Given the description of an element on the screen output the (x, y) to click on. 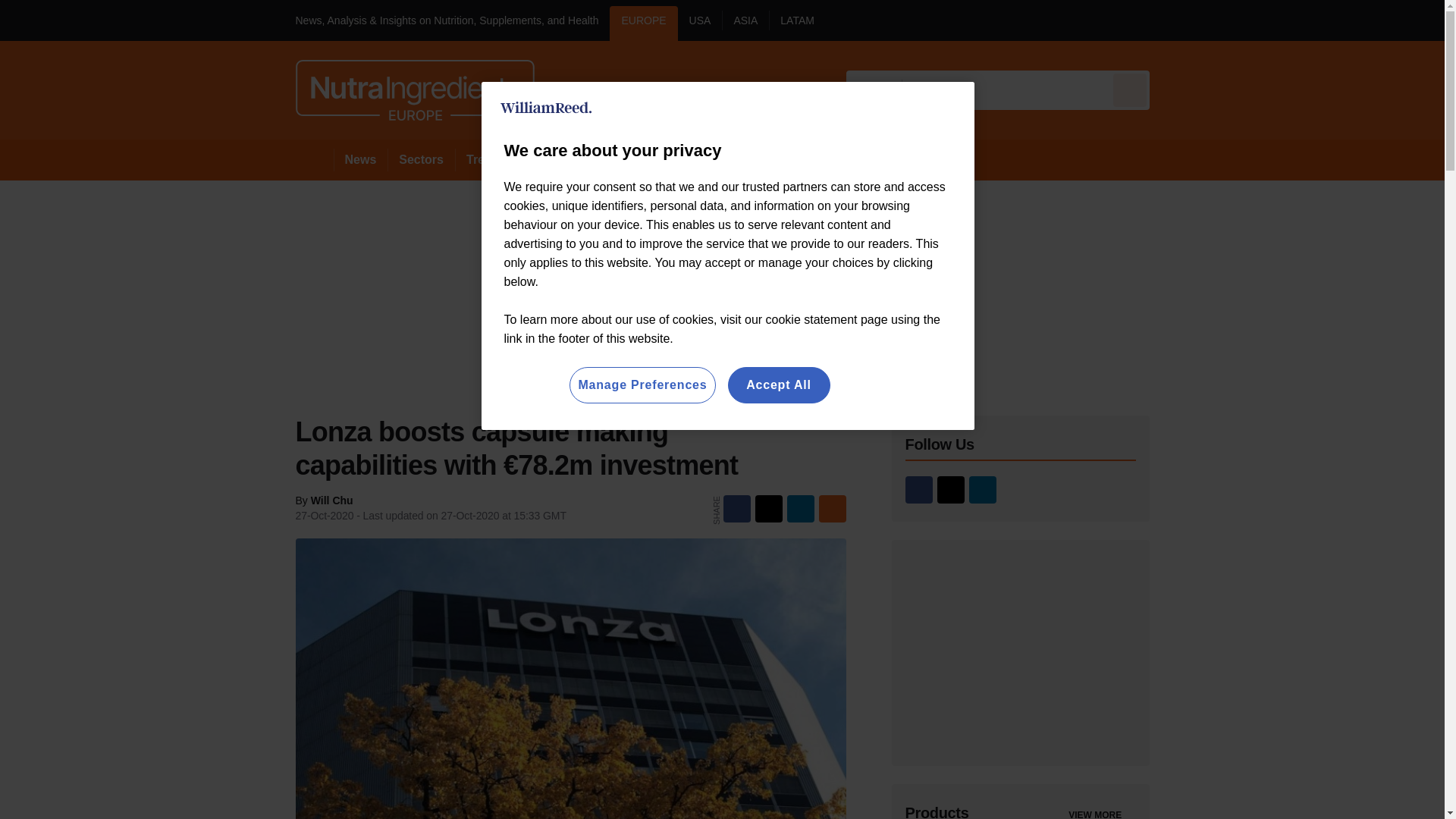
Send (1129, 89)
USA (700, 22)
Sectors (420, 159)
Home (313, 159)
Sign out (1174, 20)
William Reed (545, 107)
EUROPE (643, 22)
News (360, 159)
Sign in (1171, 20)
ASIA (745, 22)
Home (314, 159)
SUBSCRIBE (1362, 20)
SUBSCRIBE (1318, 20)
Send (1129, 90)
